Given the description of an element on the screen output the (x, y) to click on. 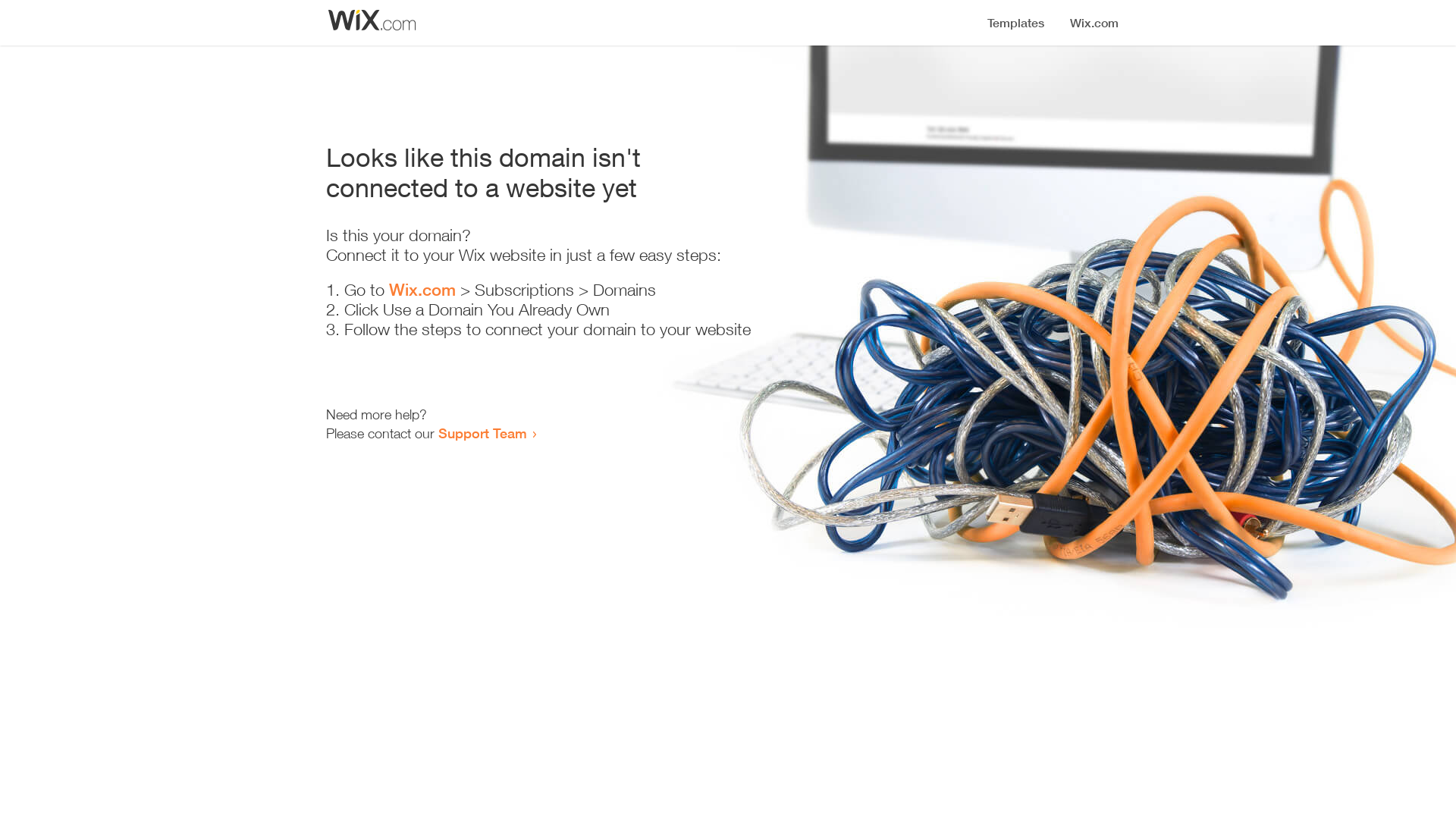
Support Team Element type: text (482, 432)
Wix.com Element type: text (422, 289)
